Given the description of an element on the screen output the (x, y) to click on. 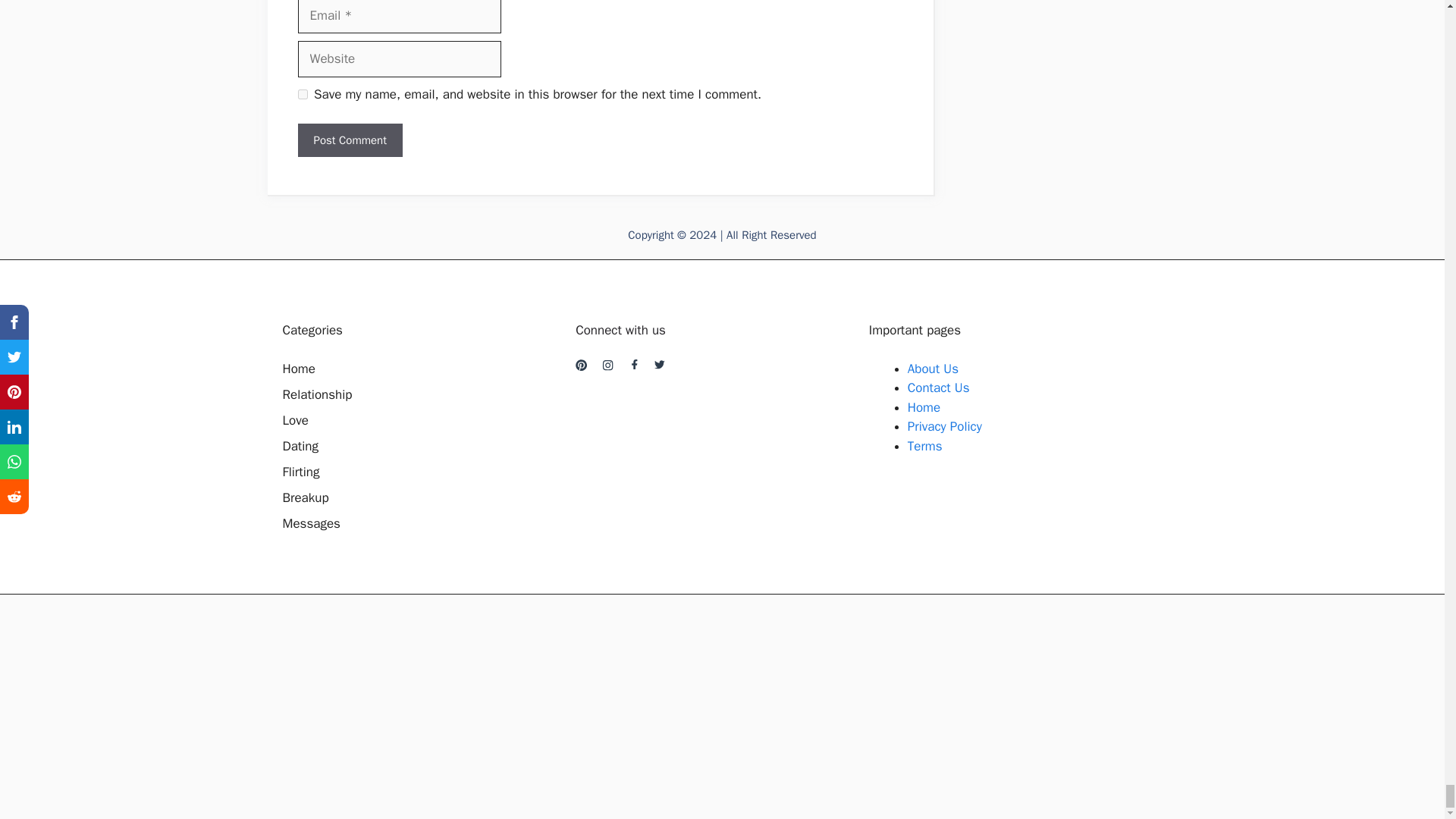
yes (302, 94)
Post Comment (349, 140)
